Given the description of an element on the screen output the (x, y) to click on. 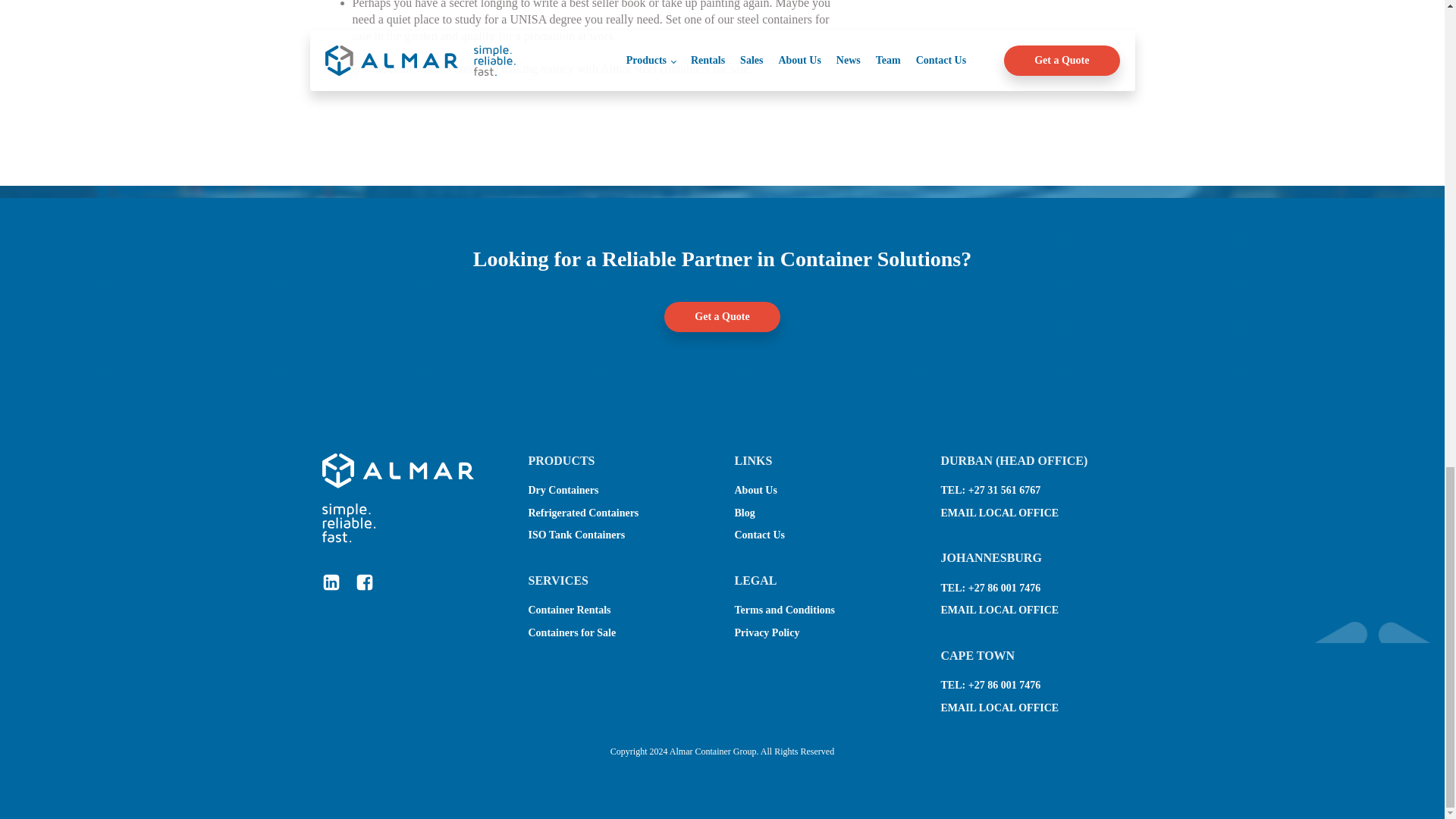
ISO Tank Containers (575, 534)
Get a Quote (720, 317)
Refrigerated Containers (583, 513)
Dry Containers (562, 490)
Request a quote (359, 100)
About Us (754, 490)
Contact Us (758, 534)
Containers for Sale (571, 632)
Blog (743, 513)
Container Rentals (568, 610)
